Given the description of an element on the screen output the (x, y) to click on. 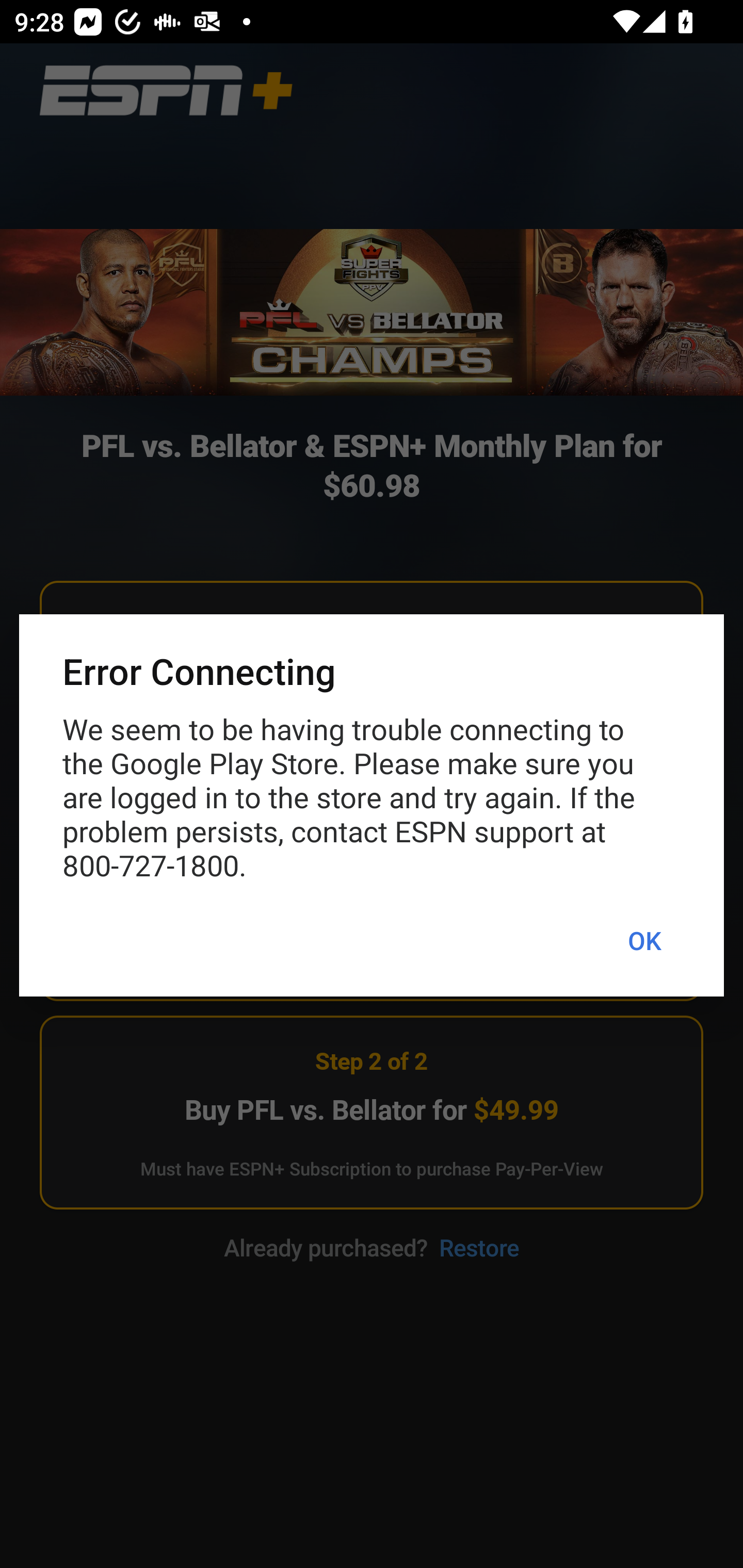
OK (644, 940)
